Given the description of an element on the screen output the (x, y) to click on. 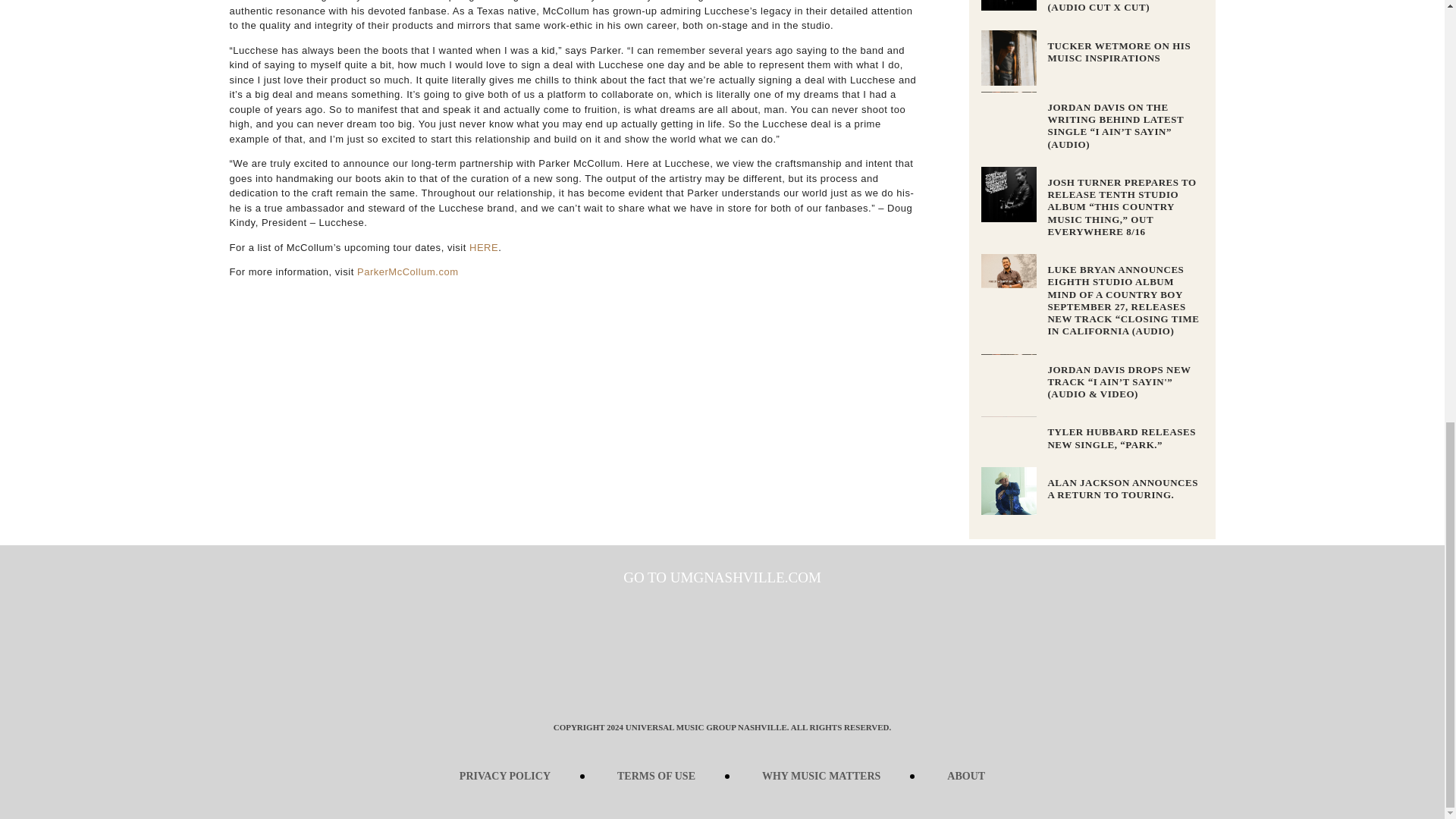
ALAN JACKSON ANNOUNCES A RETURN TO TOURING. (1122, 488)
ParkerMcCollum.com (407, 271)
Facebook (652, 684)
Twitter (699, 684)
GO TO UMGNASHVILLE.COM (721, 577)
WHY MUSIC MATTERS (821, 776)
YouTube (792, 684)
TERMS OF USE (655, 776)
PRIVACY POLICY (505, 776)
Instagram (744, 684)
